Given the description of an element on the screen output the (x, y) to click on. 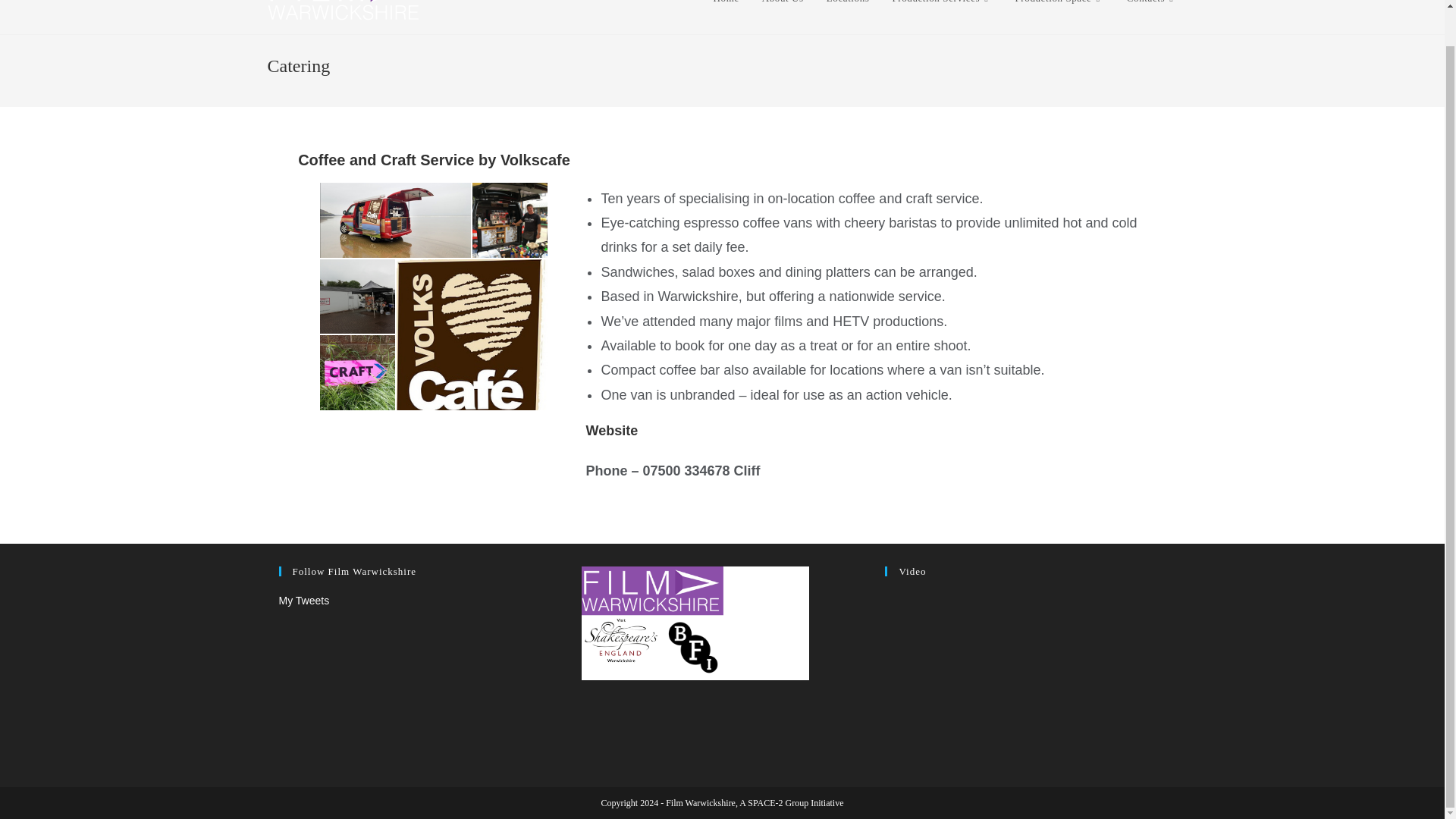
Production Services (941, 13)
Contacts (1152, 13)
Production Space (1059, 13)
Locations (847, 13)
Home (726, 13)
Welcome Back to Shakespeare's England with David Bradley (1025, 670)
About Us (783, 13)
